Given the description of an element on the screen output the (x, y) to click on. 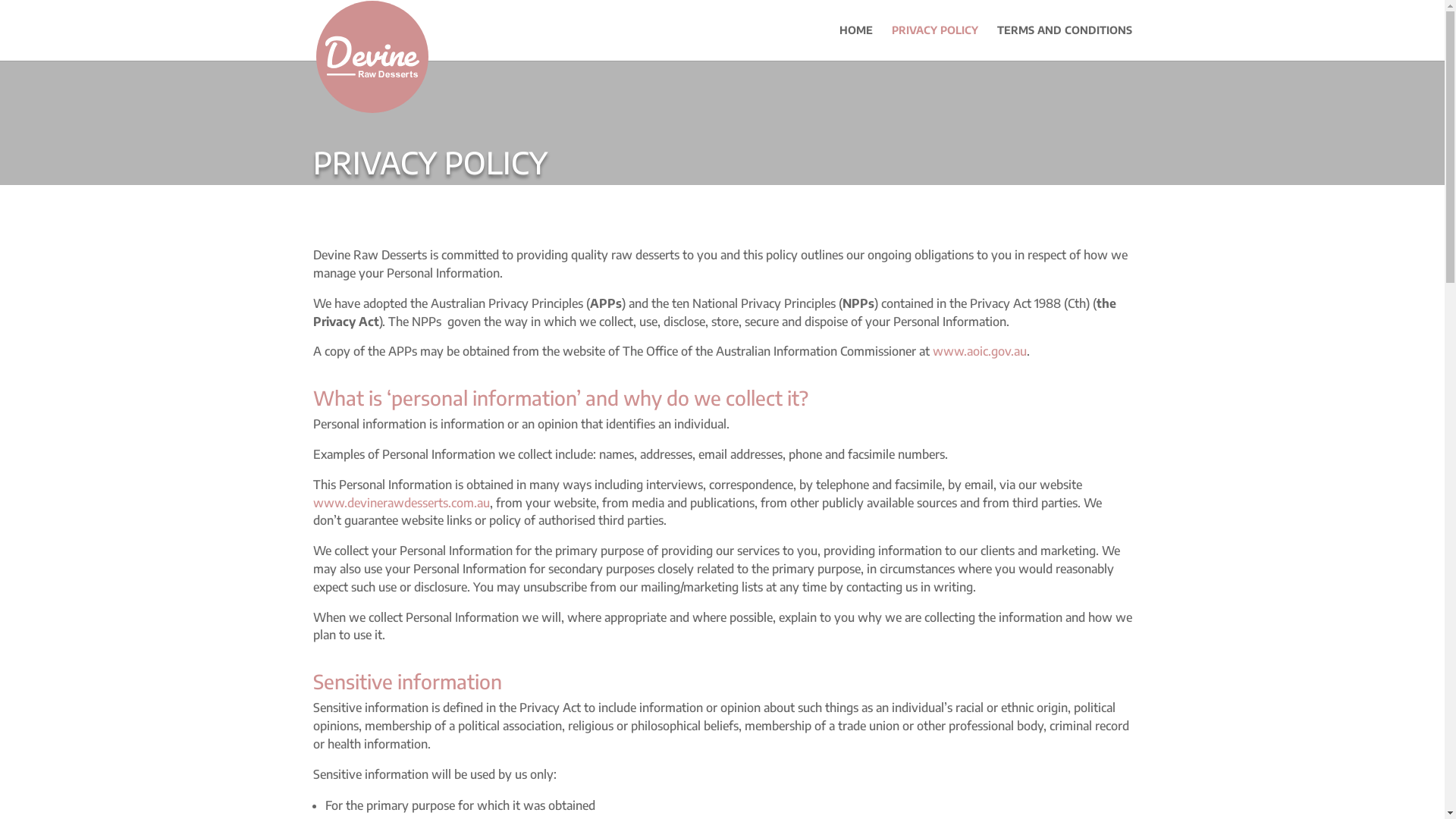
TERMS AND CONDITIONS Element type: text (1063, 42)
www.aoic.gov.au Element type: text (979, 350)
PRIVACY POLICY Element type: text (934, 42)
www.devinerawdesserts.com.au Element type: text (400, 502)
HOME Element type: text (855, 42)
